Given the description of an element on the screen output the (x, y) to click on. 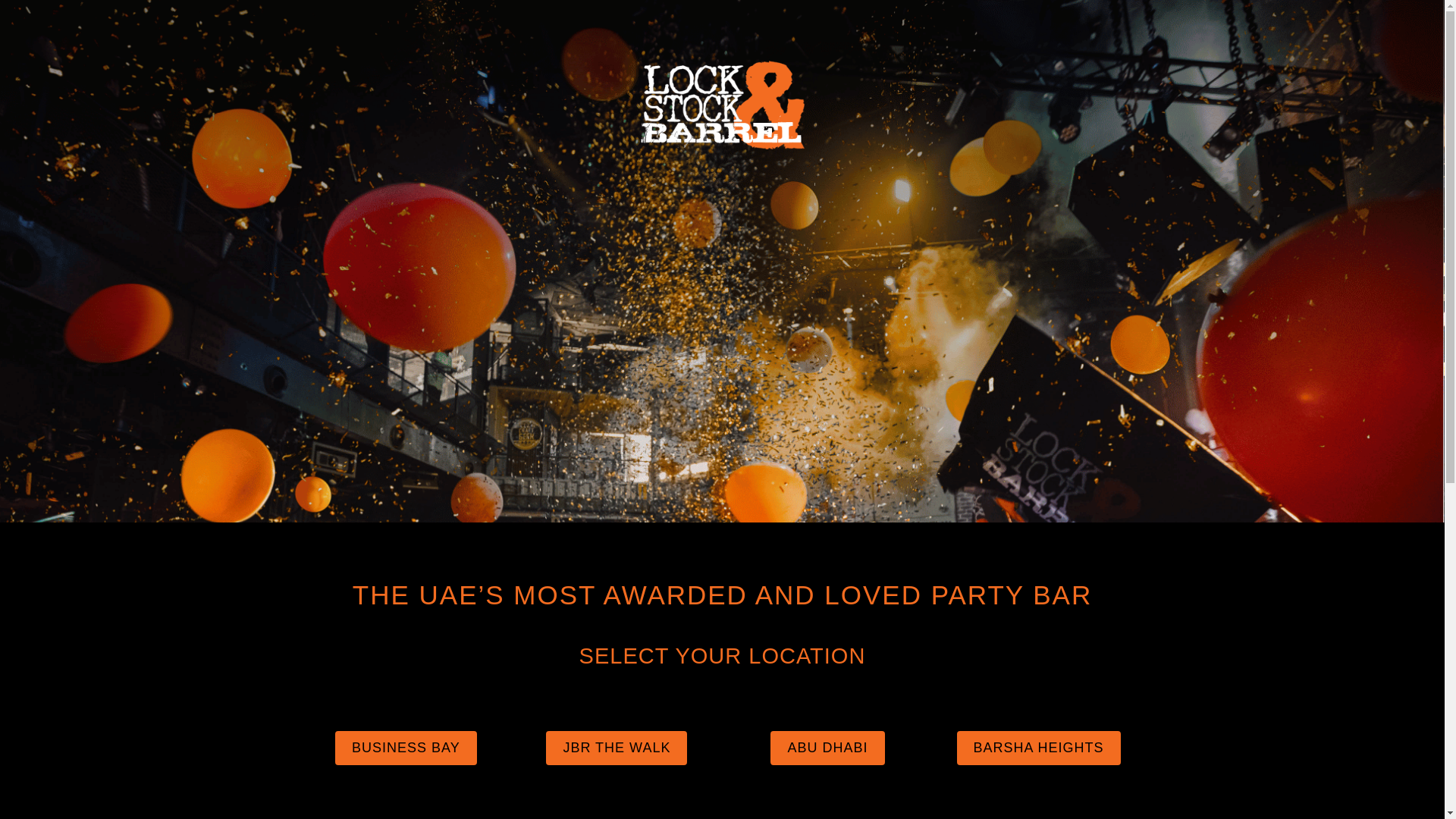
BARSHA HEIGHTS (1038, 747)
BUSINESS BAY (405, 747)
ABU DHABI (826, 747)
JBR THE WALK (616, 747)
